Given the description of an element on the screen output the (x, y) to click on. 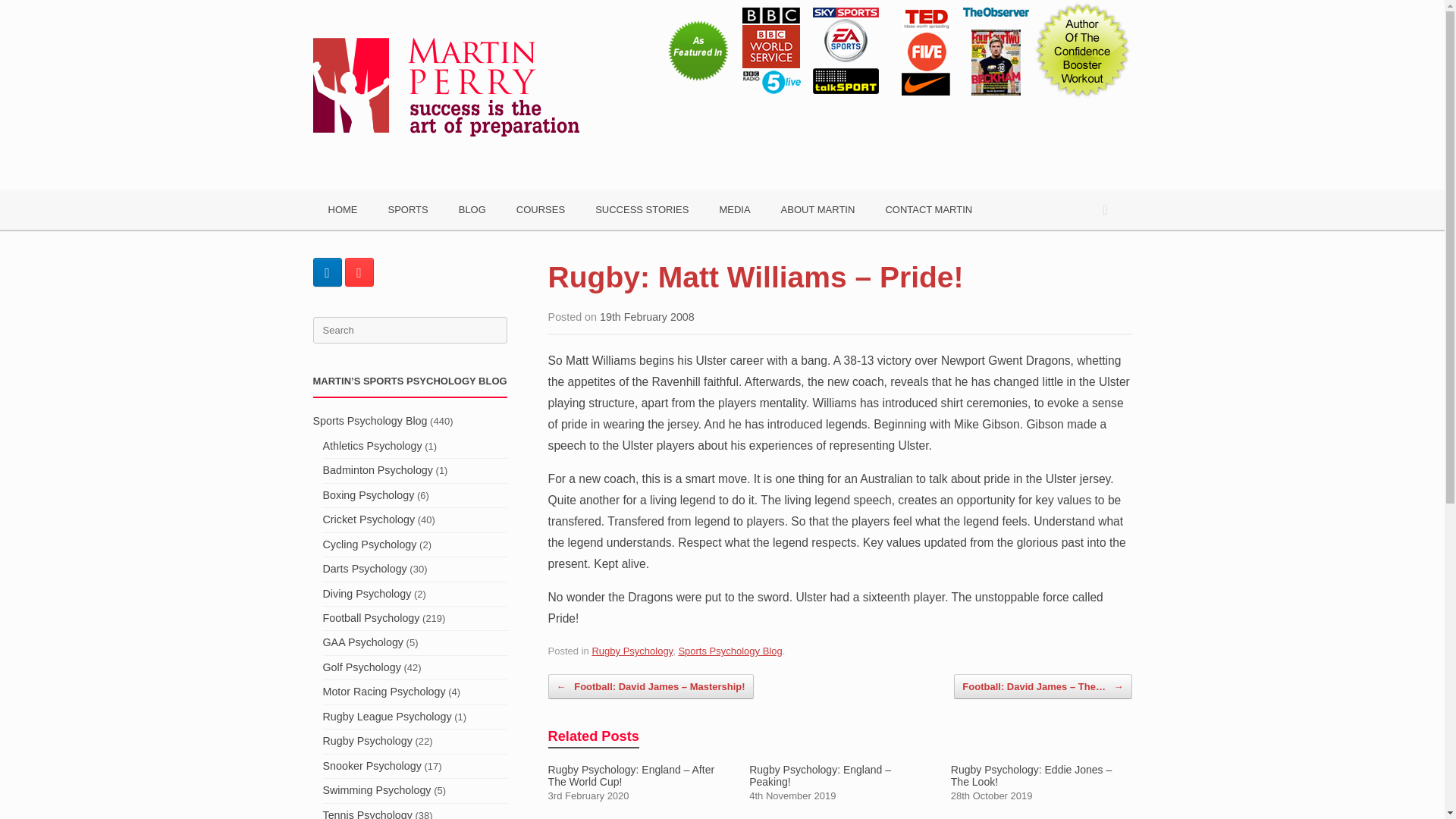
SPORTS (408, 209)
MEDIA (734, 209)
CONTACT MARTIN (928, 209)
SUCCESS STORIES (641, 209)
HOME (342, 209)
Sports Psychology Blog (729, 650)
Rugby Psychology (631, 650)
BLOG (472, 209)
19th February 2008 (646, 316)
The Martin Effect YouTube (357, 271)
The Martin Effect (445, 75)
COURSES (539, 209)
The Martin Effect LinkedIn (326, 271)
12:14 pm (646, 316)
ABOUT MARTIN (817, 209)
